Given the description of an element on the screen output the (x, y) to click on. 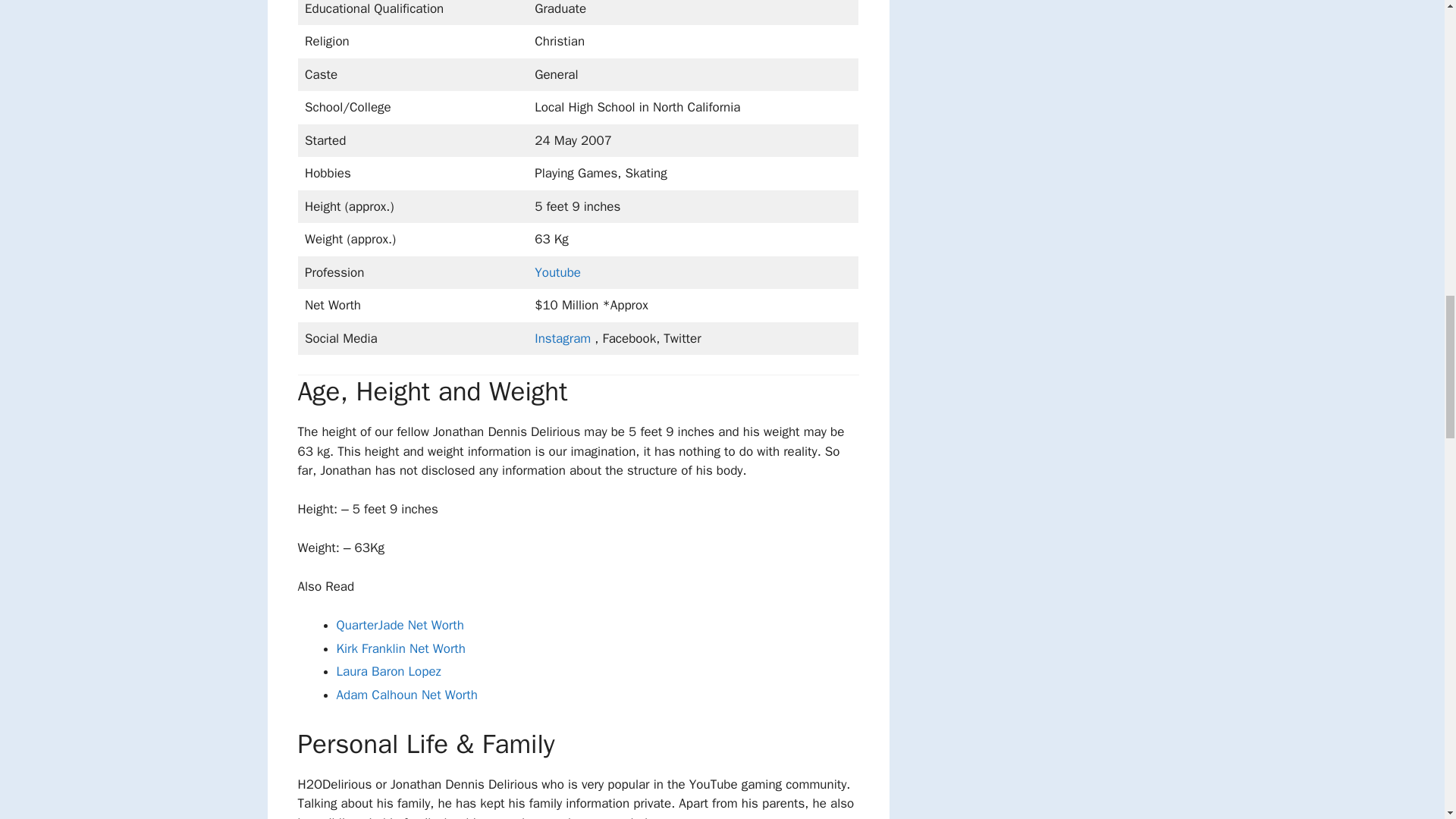
Kirk Franklin Net Worth (400, 648)
Youtube (557, 272)
Instagram (562, 338)
QuarterJade Net Worth (400, 625)
Adam Calhoun Net Worth (406, 694)
Laura Baron Lopez (388, 671)
